Given the description of an element on the screen output the (x, y) to click on. 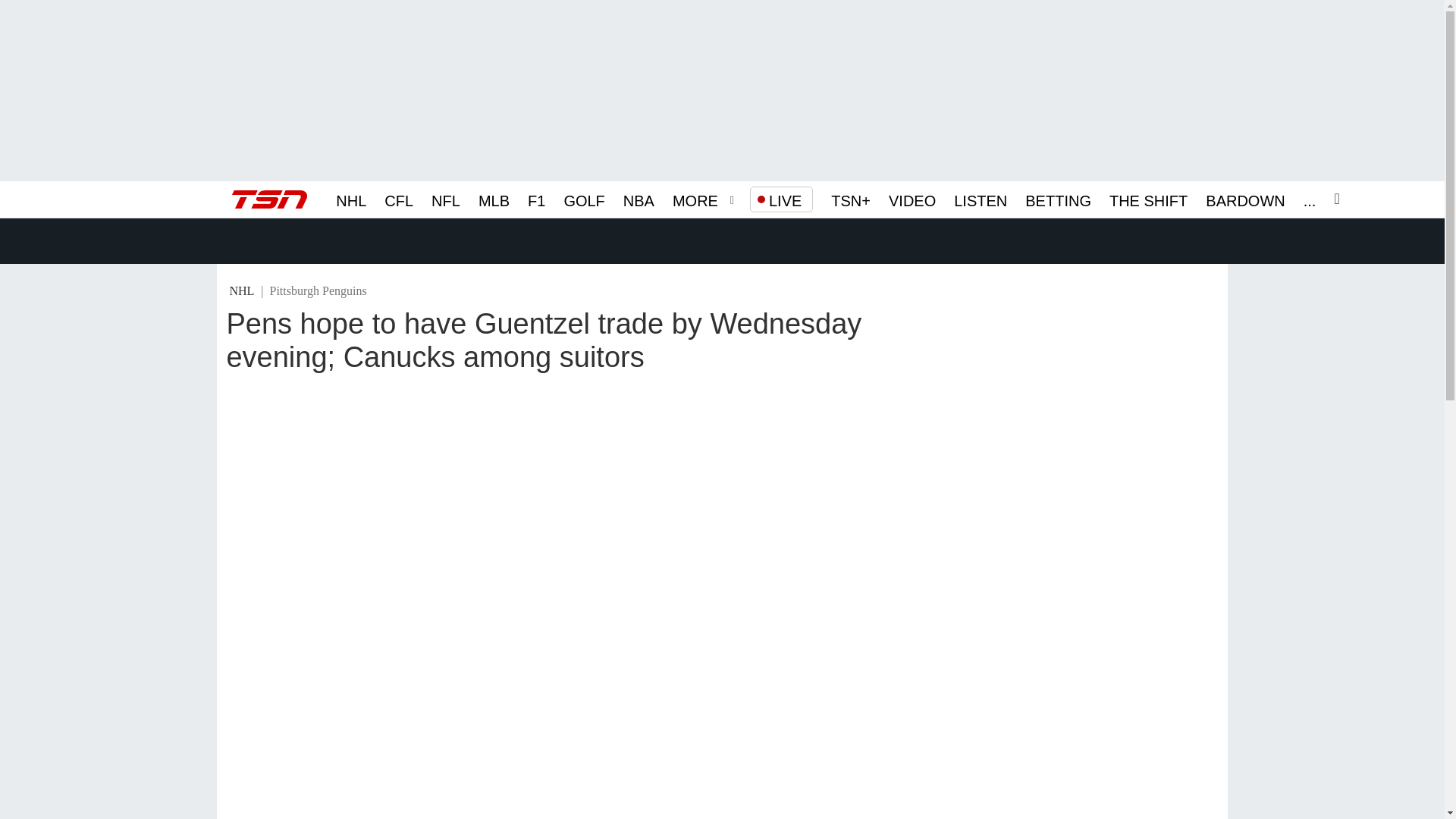
GOLF (583, 199)
NFL (445, 199)
MORE (694, 199)
NBA (638, 199)
MLB (494, 199)
NHL (351, 199)
CFL (398, 199)
TSN (269, 199)
